Given the description of an element on the screen output the (x, y) to click on. 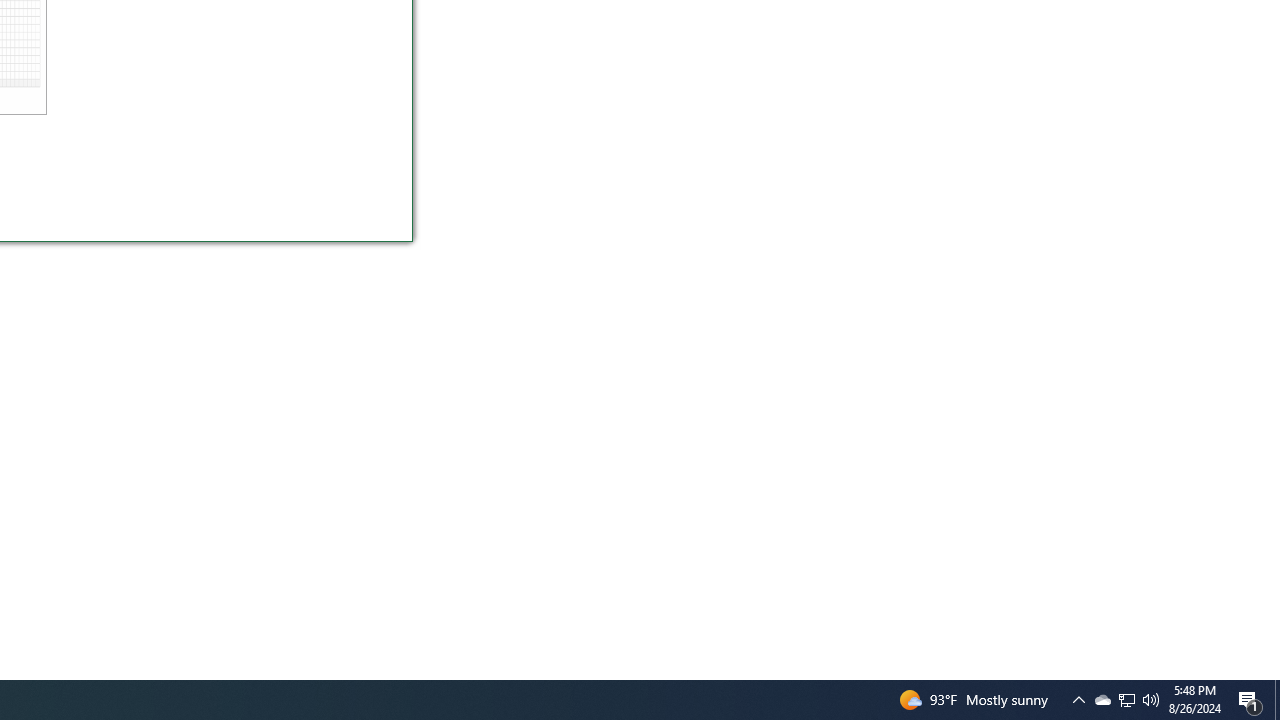
Notification Chevron (1078, 699)
Q2790: 100% (1151, 699)
User Promoted Notification Area (1126, 699)
Action Center, 1 new notification (1250, 699)
Show desktop (1126, 699)
